Given the description of an element on the screen output the (x, y) to click on. 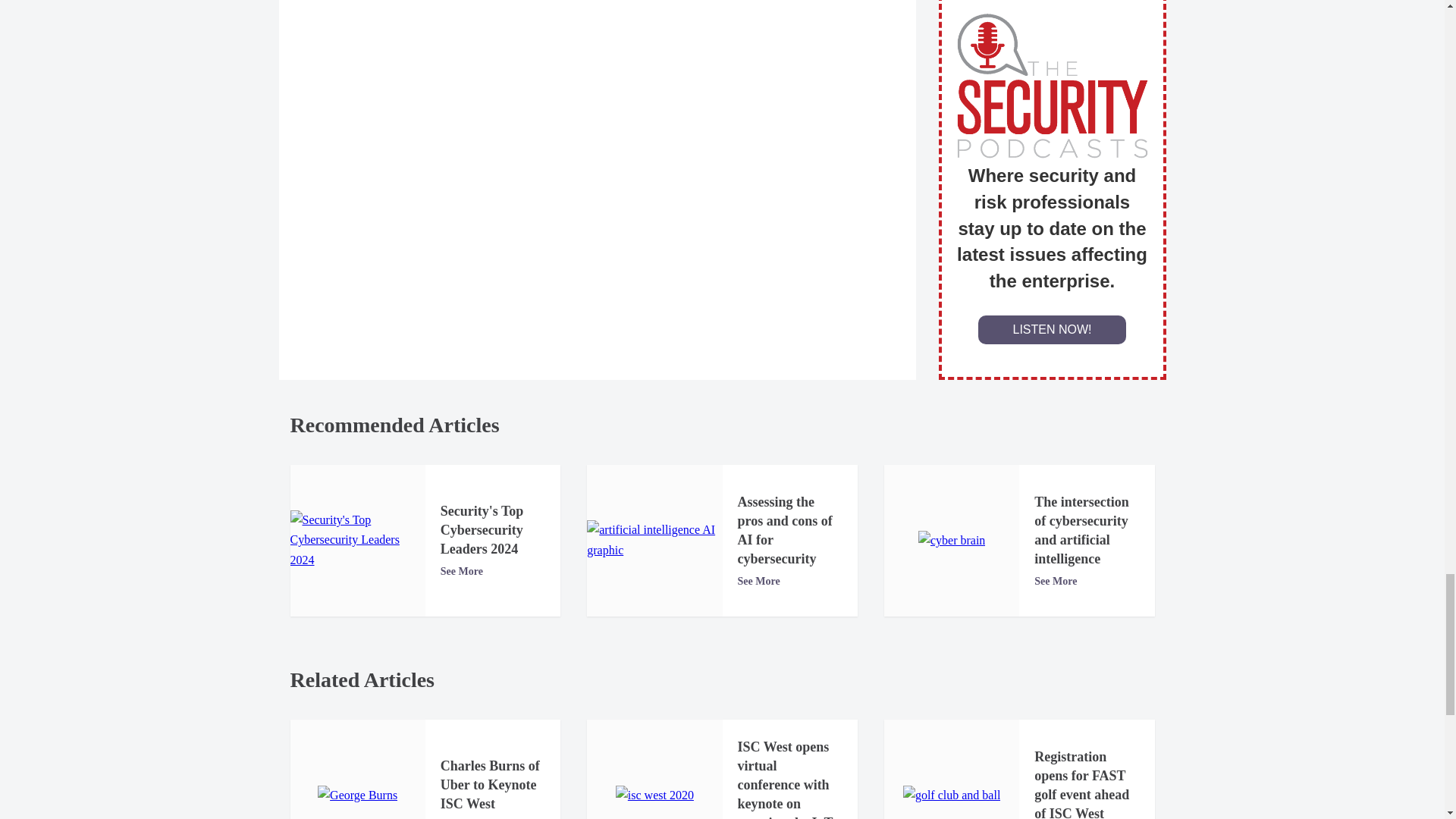
Artificial Intelligence (654, 540)
isc west 2020 (654, 795)
Security's Top Cybersecurity Leaders 2024 (357, 540)
cyber brain (951, 540)
George Burns (357, 795)
